Given the description of an element on the screen output the (x, y) to click on. 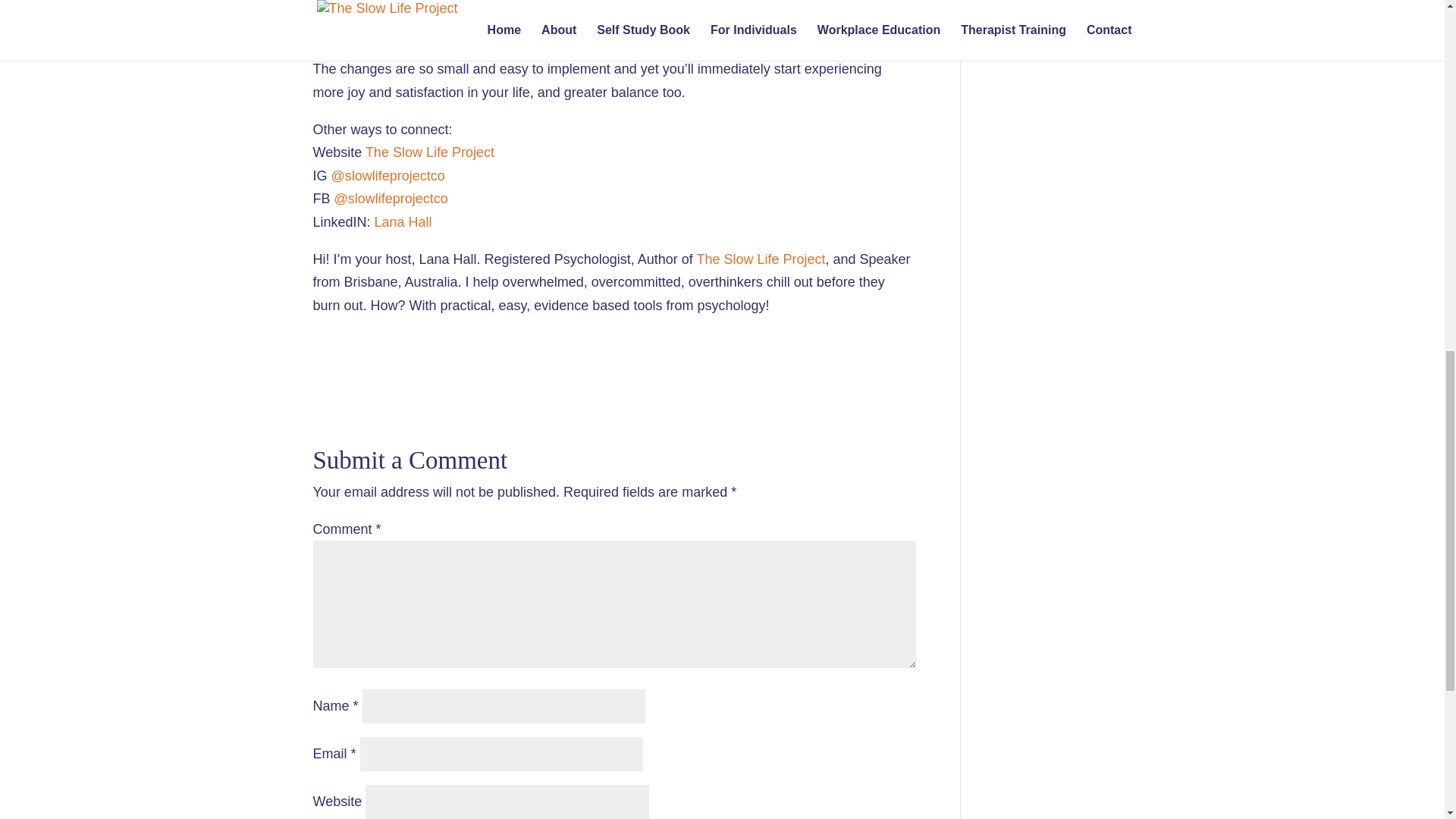
Lana Hall (403, 222)
The Slow Life Project (430, 151)
The Slow Life Project (760, 258)
